Given the description of an element on the screen output the (x, y) to click on. 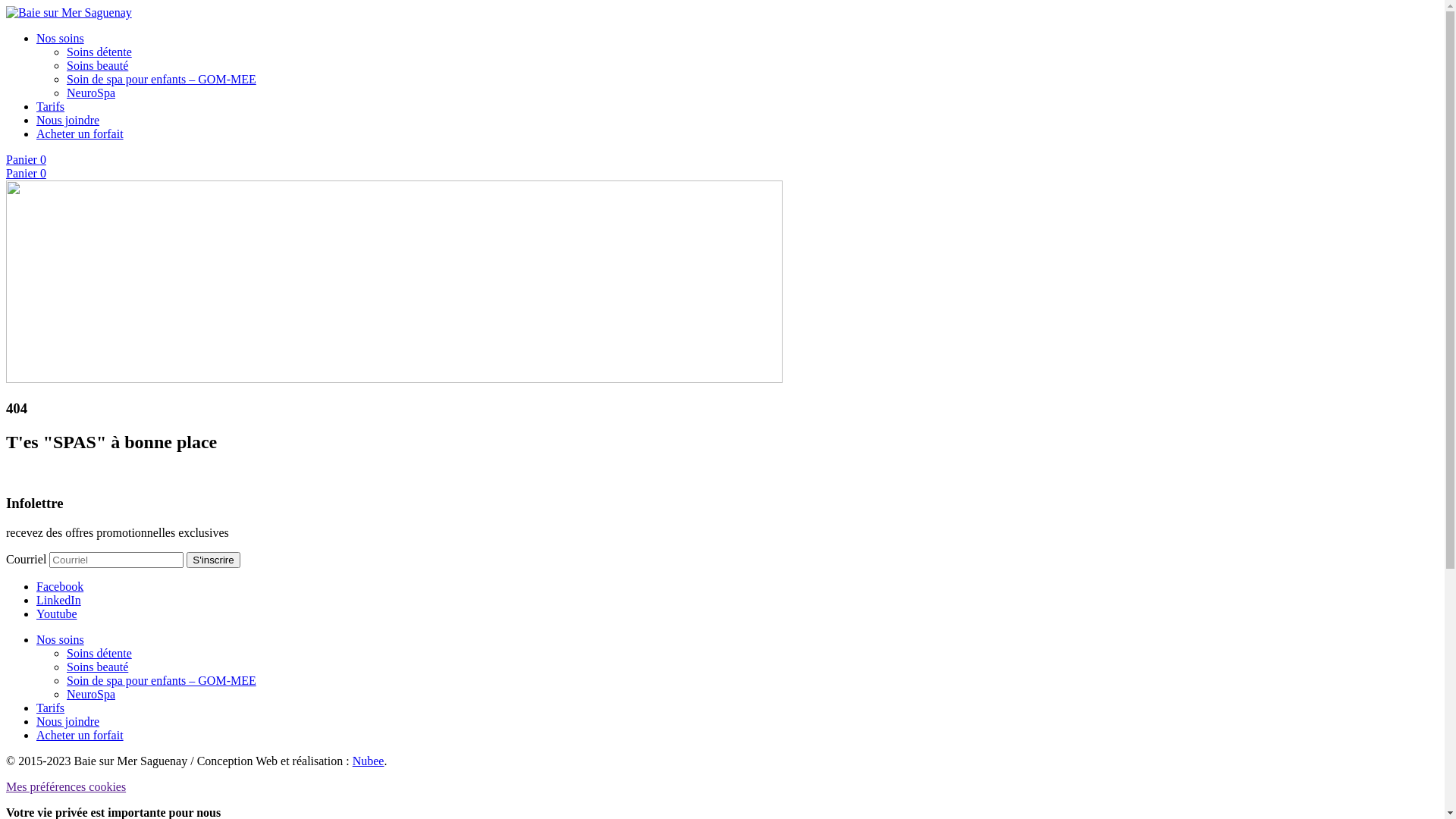
Nos soins Element type: text (60, 37)
NeuroSpa Element type: text (90, 92)
Panier 0 Element type: text (26, 159)
Youtube Element type: text (56, 613)
Nous joindre Element type: text (67, 119)
Nubee Element type: text (368, 760)
Acheter un forfait Element type: text (79, 133)
Nous joindre Element type: text (67, 721)
Panier 0 Element type: text (26, 172)
LinkedIn Element type: text (58, 599)
Tarifs Element type: text (50, 106)
Facebook Element type: text (59, 586)
Tarifs Element type: text (50, 707)
S'inscrire Element type: text (212, 559)
Acheter un forfait Element type: text (79, 734)
NeuroSpa Element type: text (90, 693)
Nos soins Element type: text (60, 639)
